Given the description of an element on the screen output the (x, y) to click on. 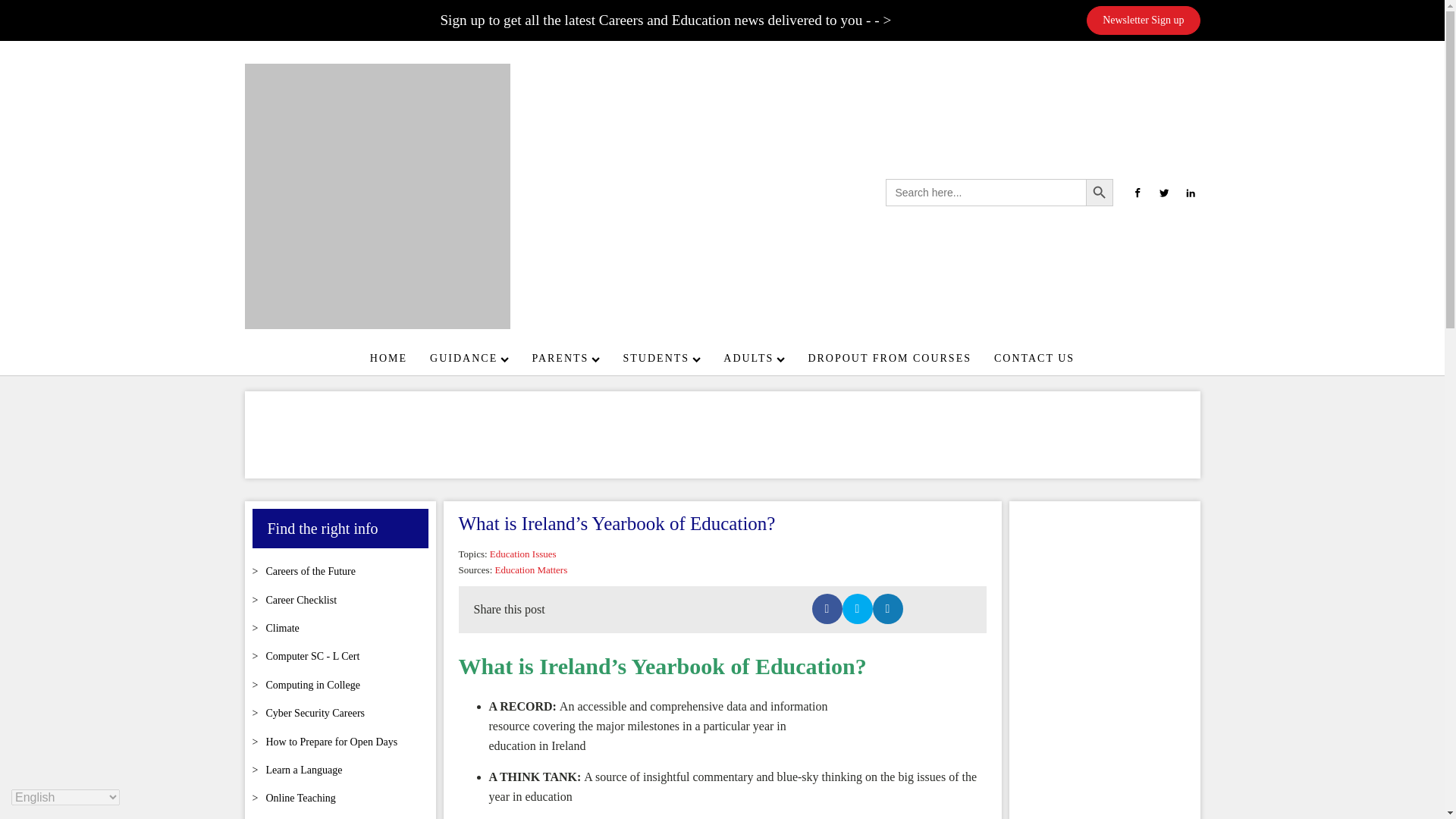
PARENTS (565, 358)
Newsletter Sign up (1142, 20)
GUIDANCE (469, 358)
STUDENTS (662, 358)
HOME (388, 358)
Search Button (1099, 192)
